Given the description of an element on the screen output the (x, y) to click on. 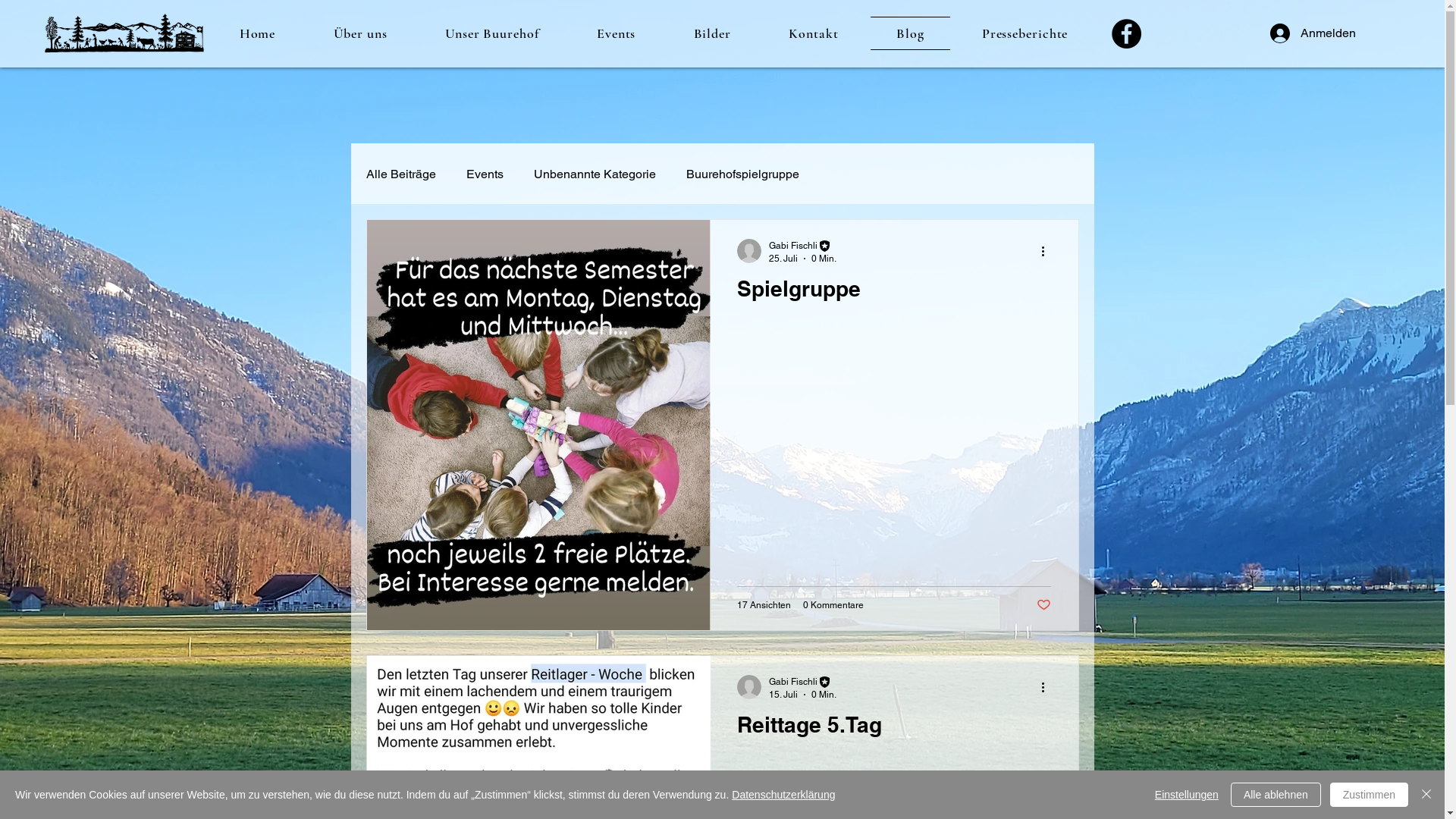
0 Kommentare Element type: text (832, 604)
Unbenannte Kategorie Element type: text (594, 173)
Zustimmen Element type: text (1369, 794)
Home Element type: text (257, 33)
Alle ablehnen Element type: text (1275, 794)
Presseberichte Element type: text (1025, 33)
Events Element type: text (616, 33)
Bilder Element type: text (711, 33)
Buurehofspielgruppe Element type: text (741, 173)
Anmelden Element type: text (1303, 32)
Events Element type: text (483, 173)
Blog Element type: text (910, 33)
Spielgruppe Element type: text (894, 292)
Gabi Fischli Element type: text (802, 245)
Gabi Fischli Element type: text (802, 681)
Kontakt Element type: text (813, 33)
Unser Buurehof Element type: text (491, 33)
Reittage 5.Tag Element type: text (894, 728)
